Given the description of an element on the screen output the (x, y) to click on. 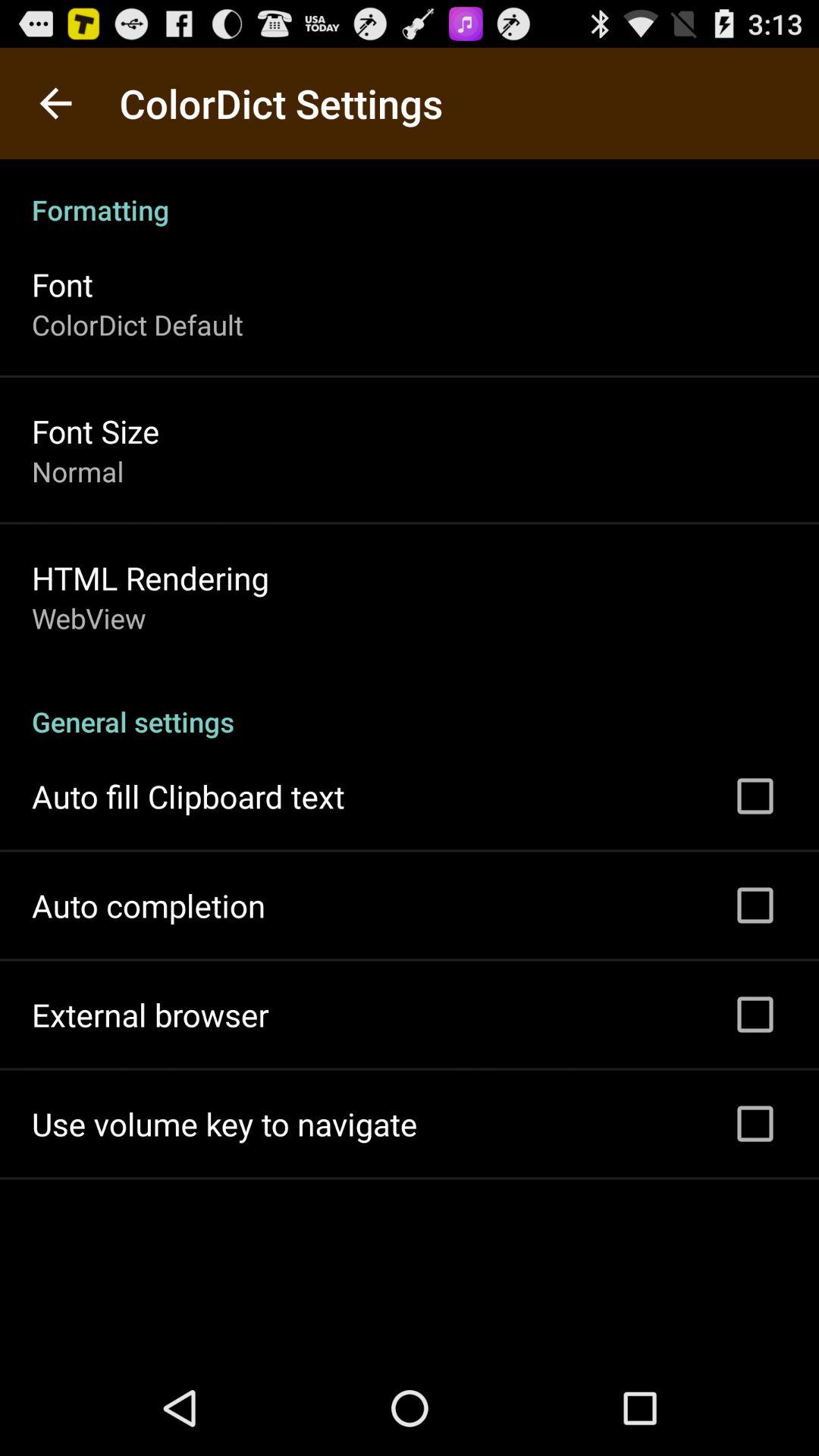
select the auto completion icon (148, 905)
